Given the description of an element on the screen output the (x, y) to click on. 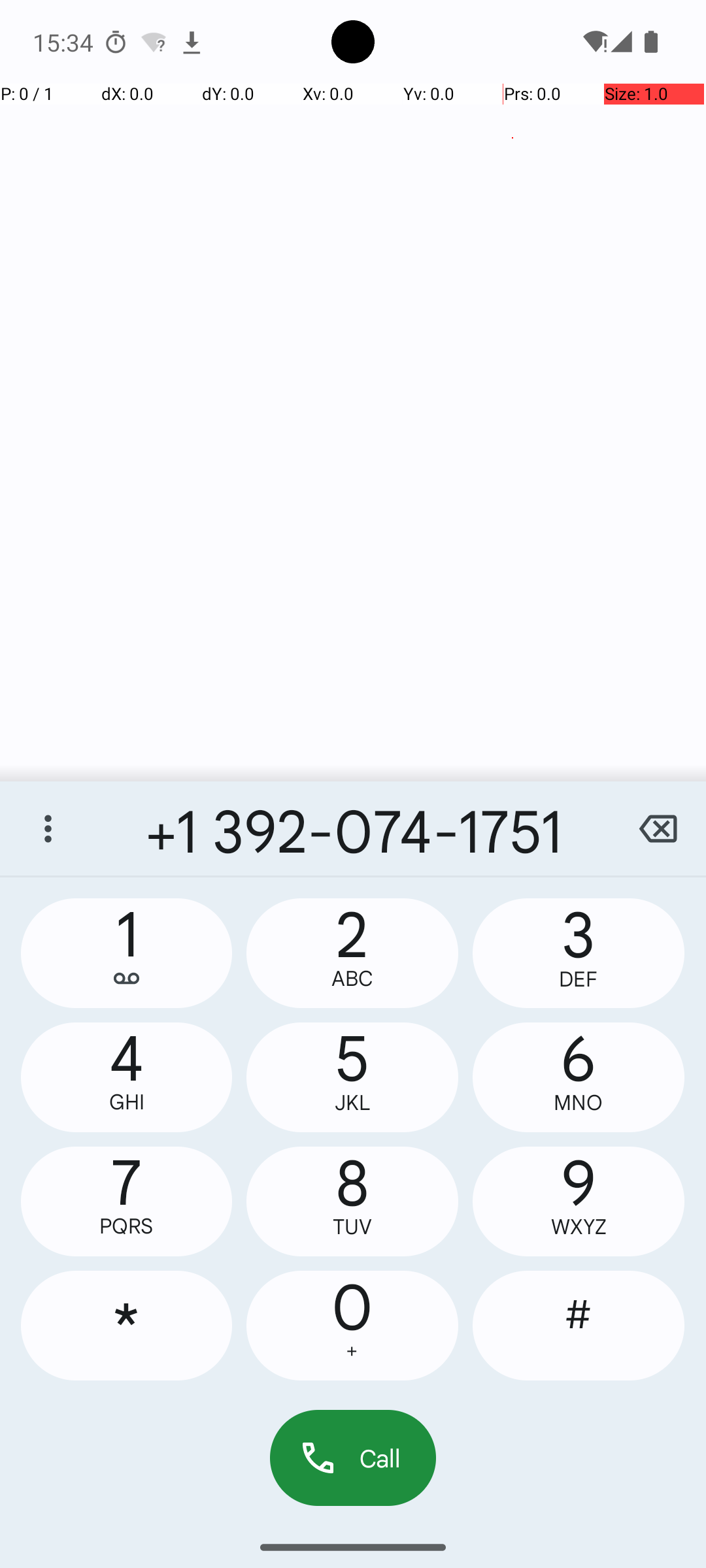
+1 392-074-1751 Element type: android.widget.EditText (352, 828)
